Given the description of an element on the screen output the (x, y) to click on. 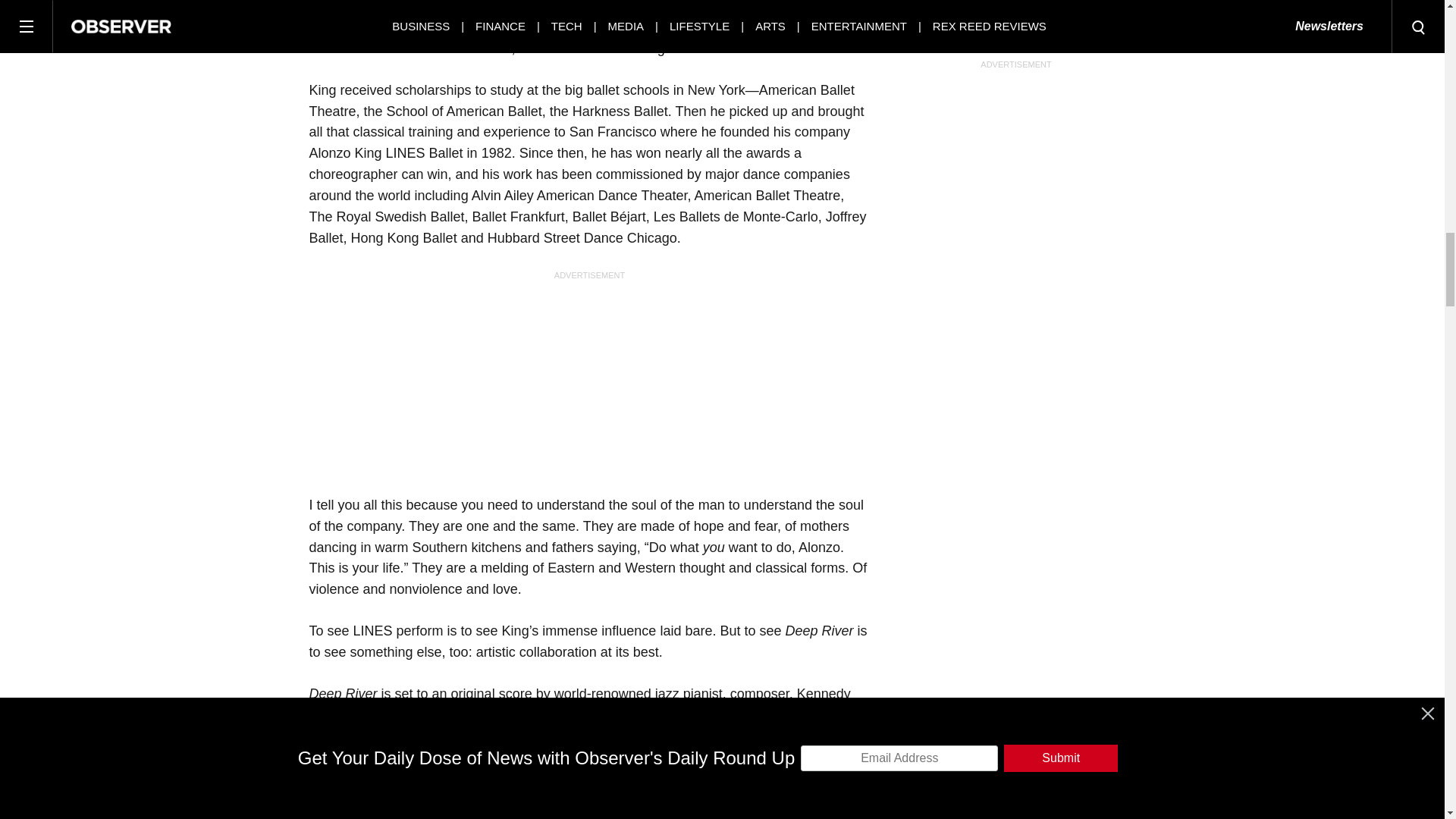
Jason Moran (676, 715)
Lisa Fischer (487, 736)
Pharoah Sanders (719, 799)
Maurice Ravel (352, 816)
Weldon Johnson (551, 816)
